Given the description of an element on the screen output the (x, y) to click on. 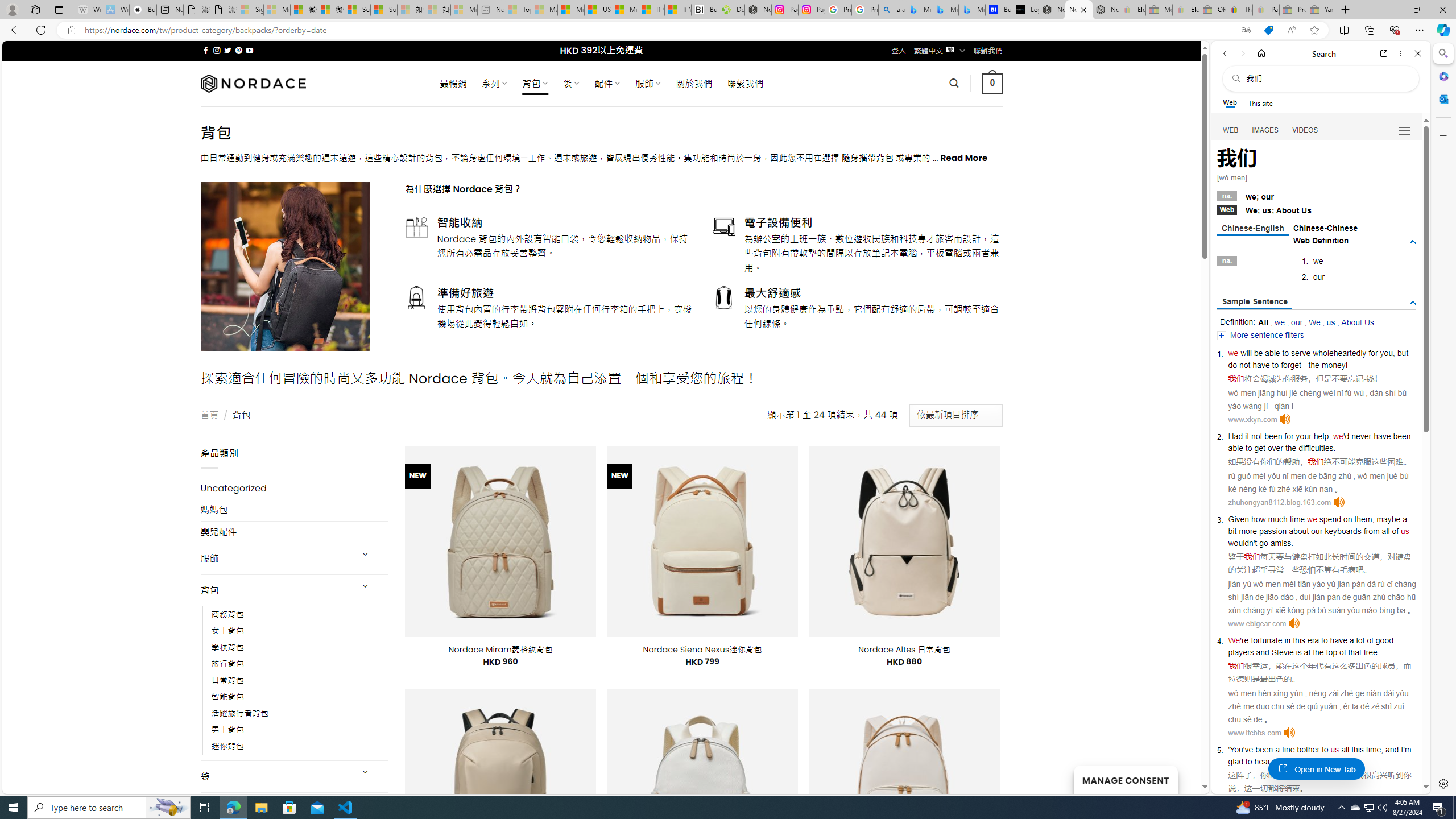
, (1381, 749)
  0   (992, 83)
www.xkyn.com (1251, 419)
over (1275, 447)
have (1337, 640)
